Given the description of an element on the screen output the (x, y) to click on. 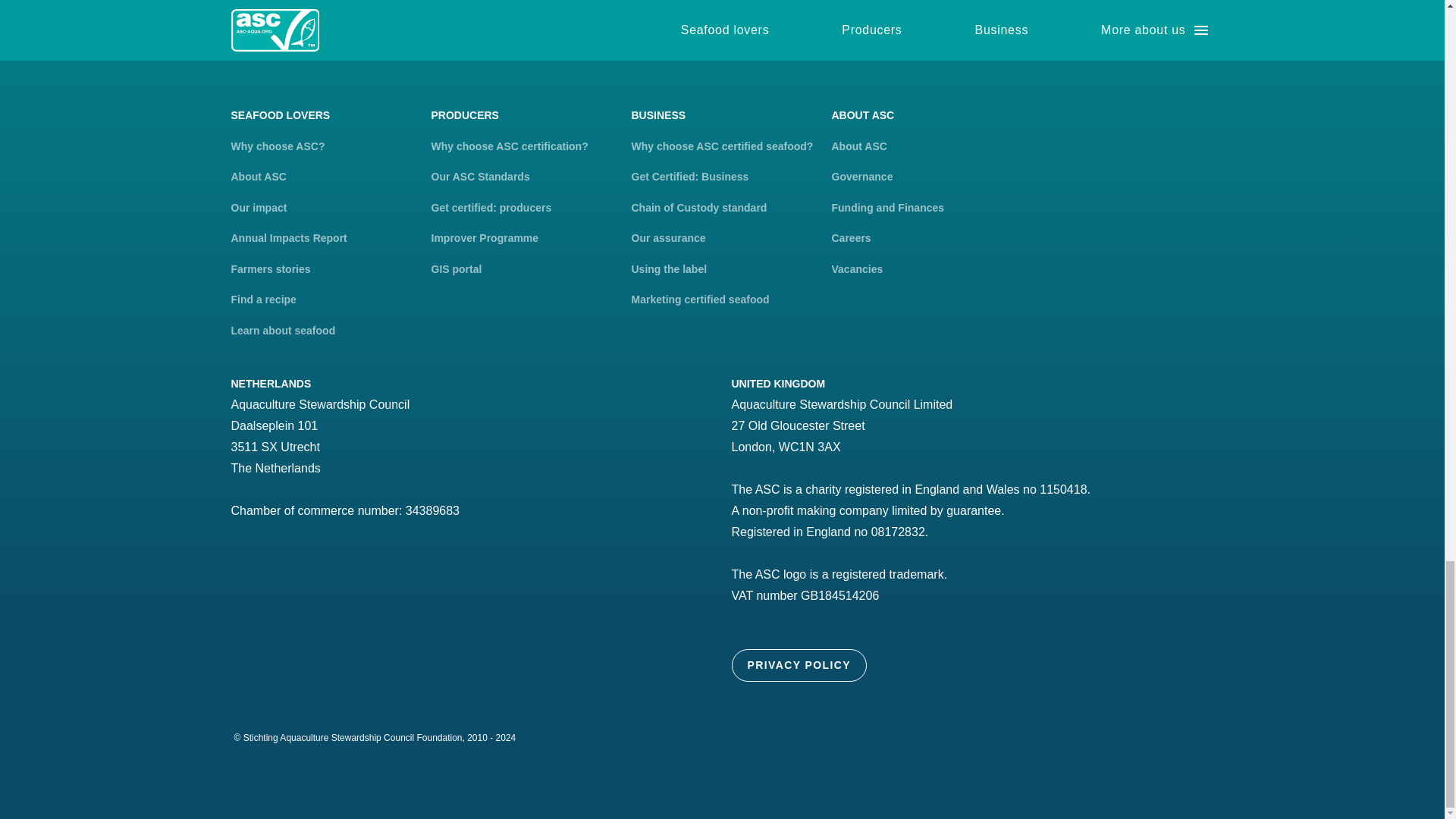
facebook (1002, 30)
linkedin (1129, 30)
twitter (1044, 30)
instagram (1086, 30)
